Given the description of an element on the screen output the (x, y) to click on. 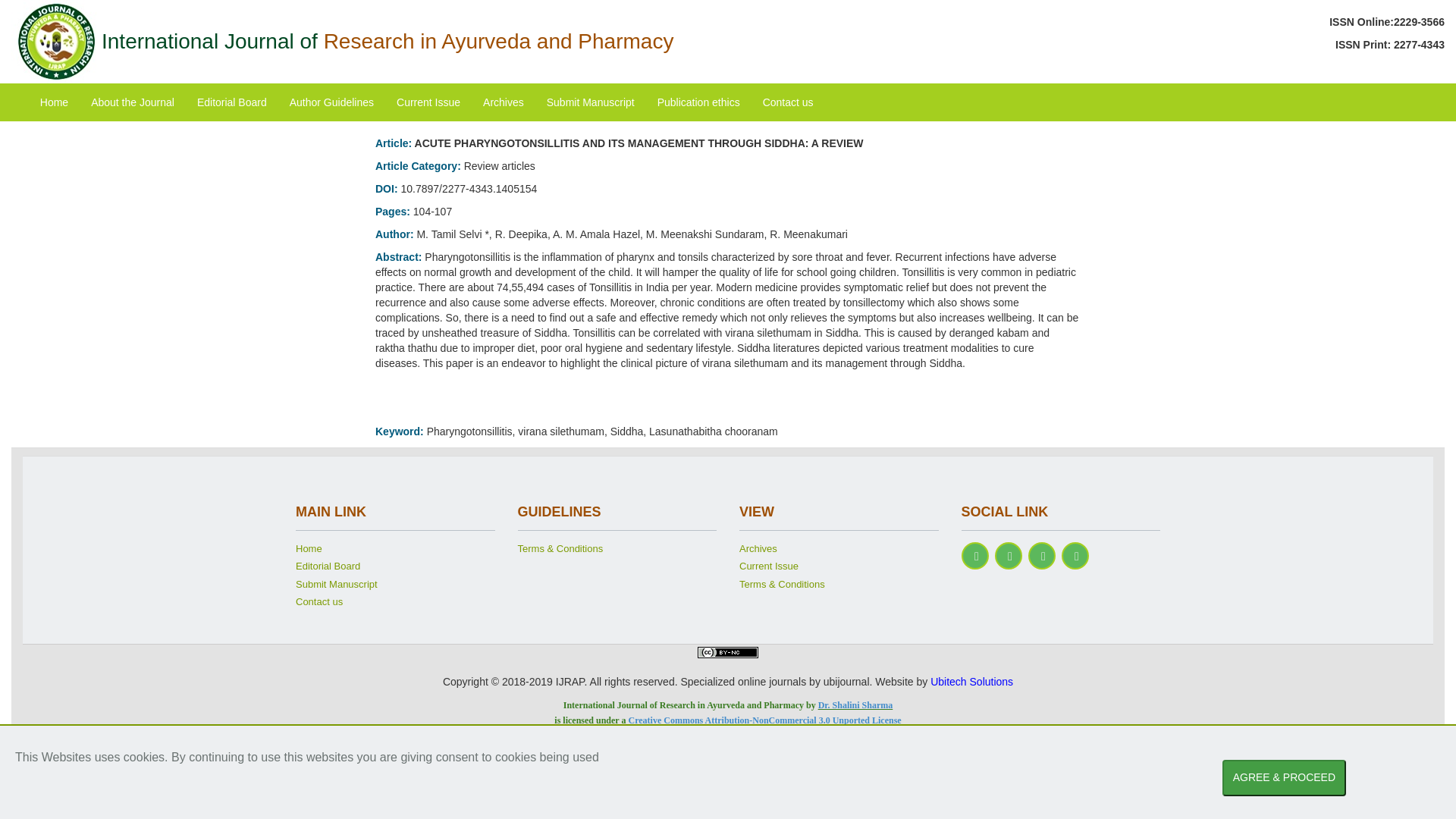
Current Issue (428, 102)
Ubitech Solutions (971, 681)
Submit Manuscript (395, 587)
Archives (503, 102)
Current Issue (839, 568)
Publication ethics (698, 102)
Home (54, 102)
Submit Manuscript (590, 102)
Author Guidelines (331, 102)
